Given the description of an element on the screen output the (x, y) to click on. 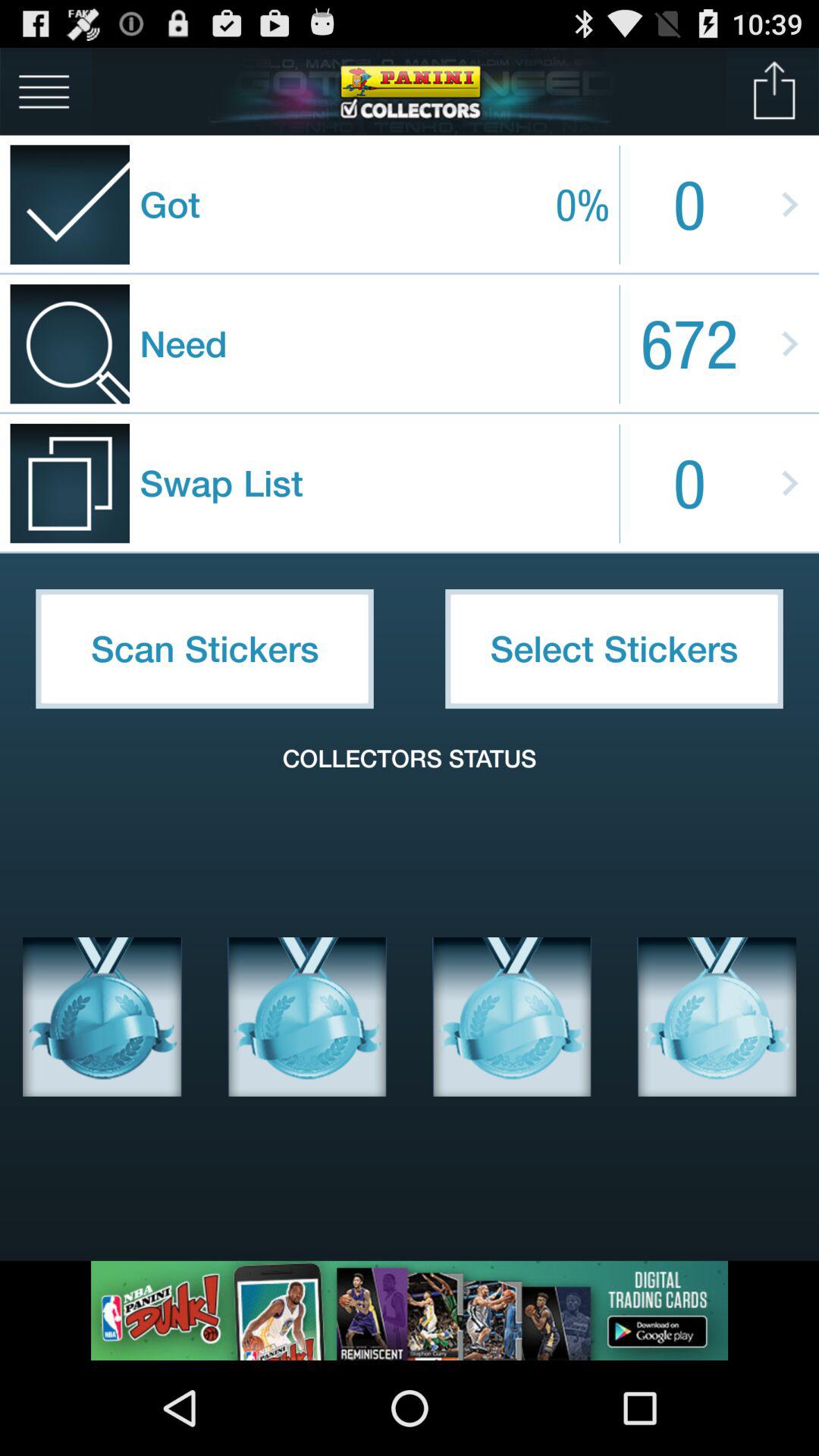
turn off the item below the collectors status (102, 1016)
